Given the description of an element on the screen output the (x, y) to click on. 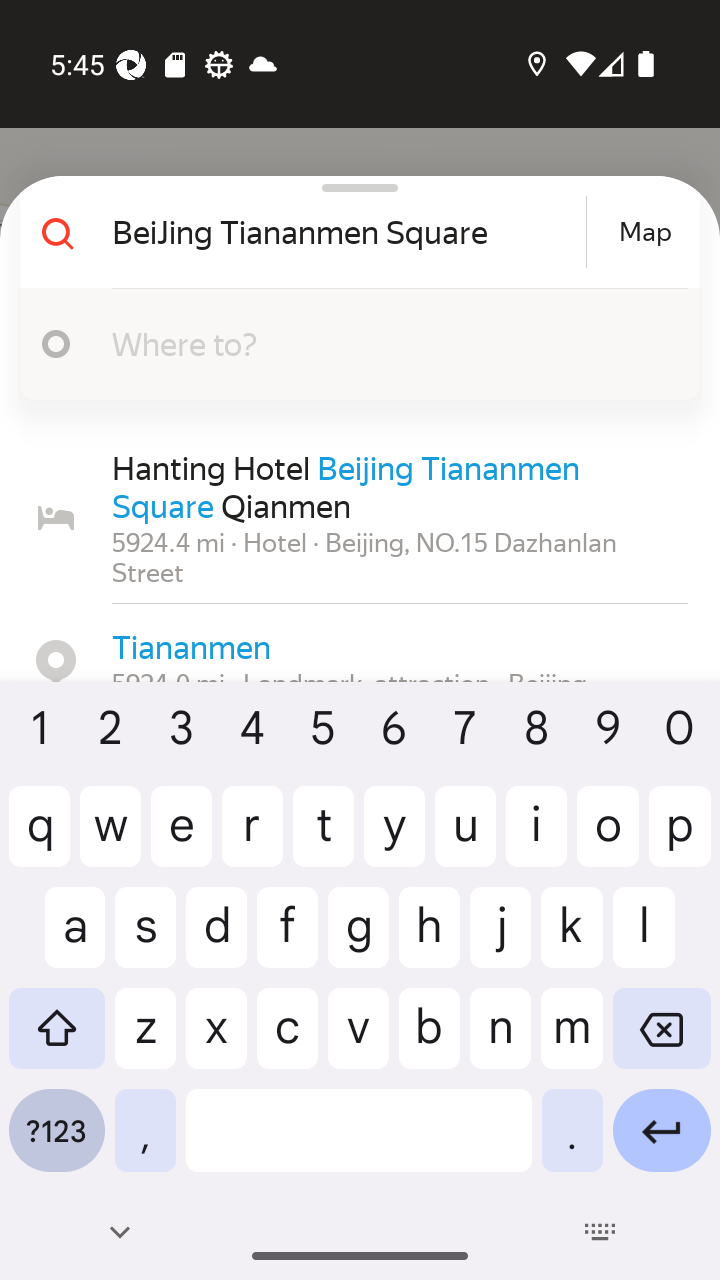
BeiJing Tiananmen Square Map Map (352, 232)
Map (645, 232)
BeiJing Tiananmen Square (346, 232)
Where to? (352, 343)
Where to? (373, 343)
